Given the description of an element on the screen output the (x, y) to click on. 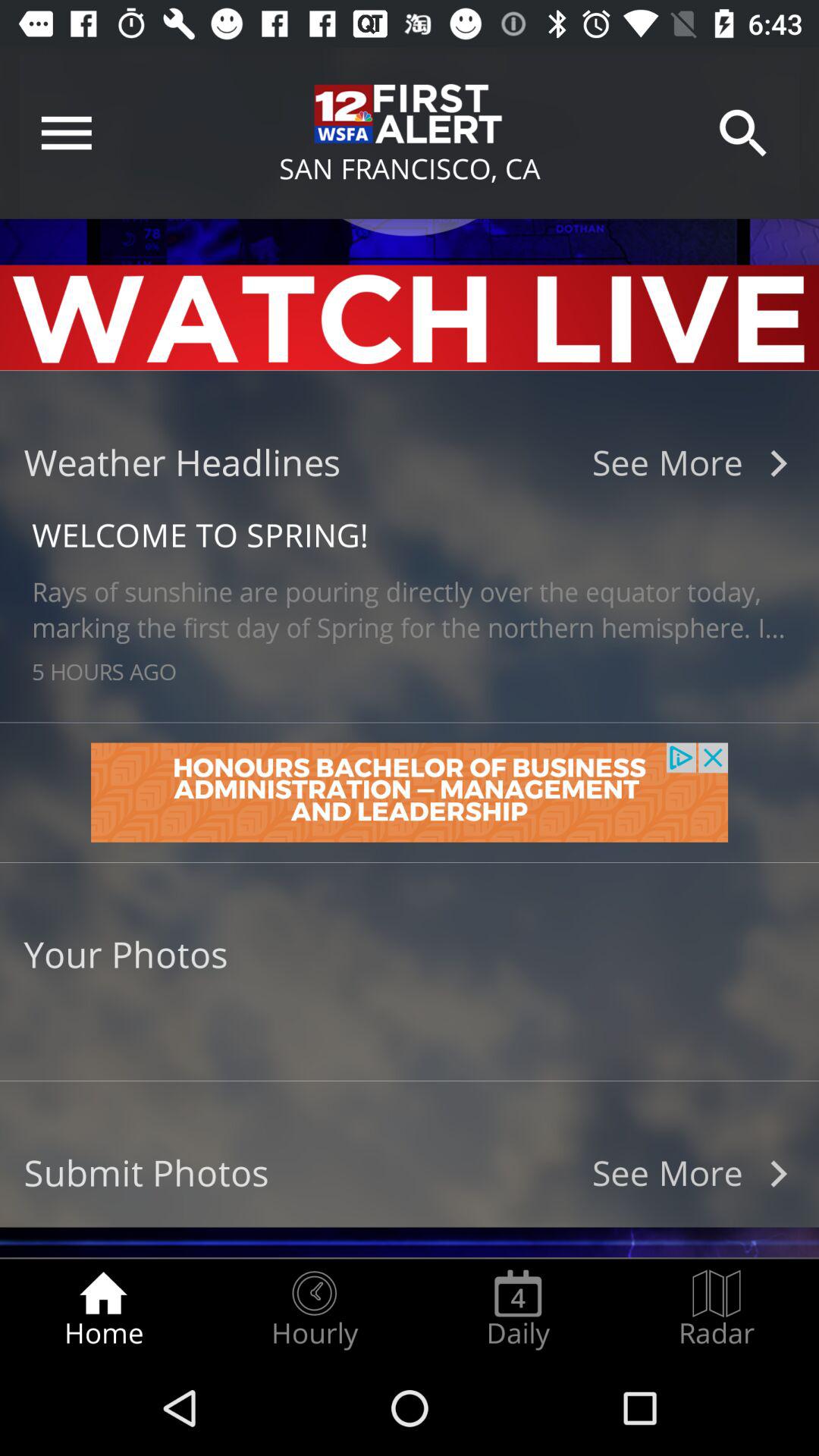
turn on icon to the right of daily item (716, 1309)
